Given the description of an element on the screen output the (x, y) to click on. 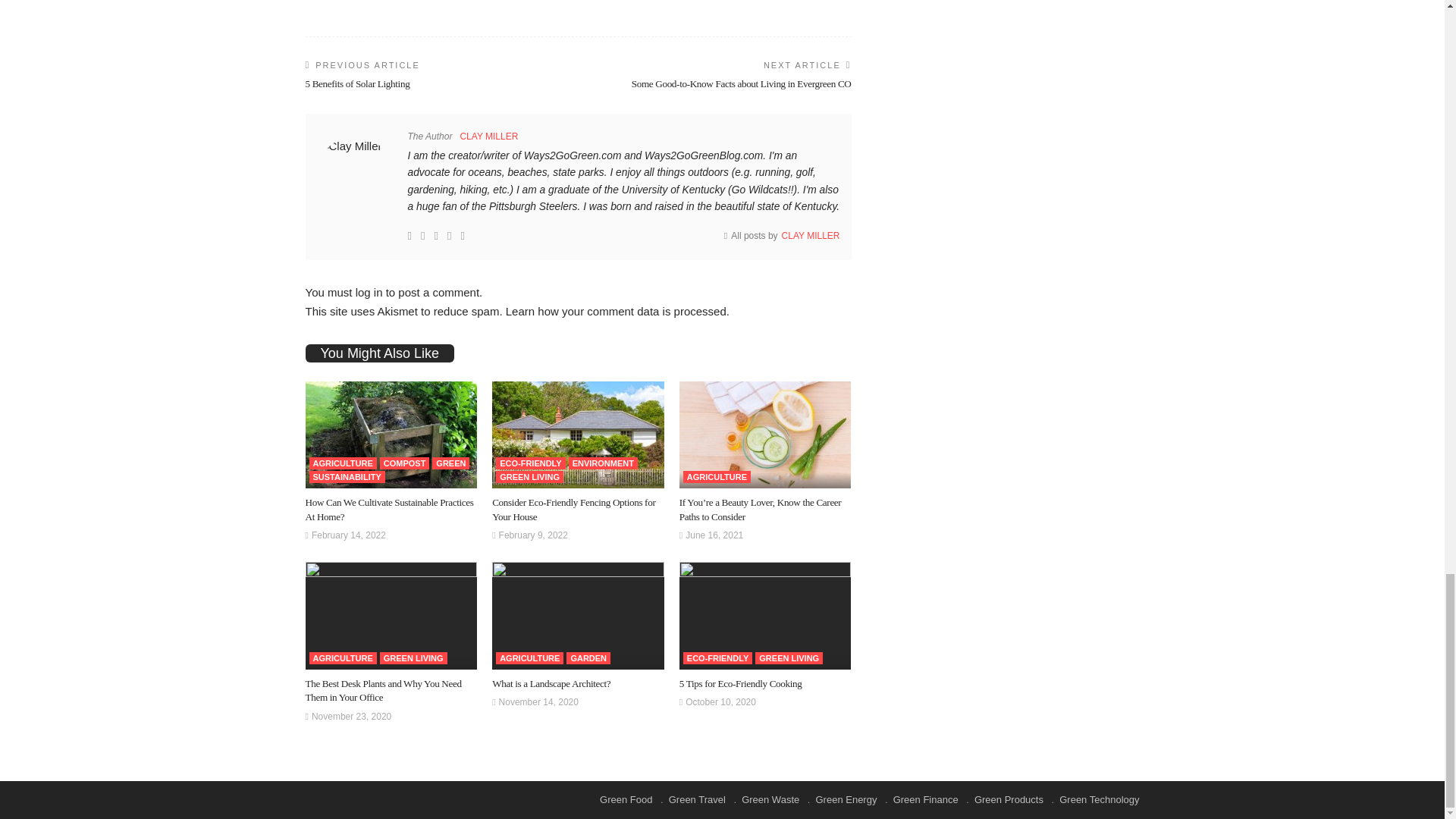
agriculture (342, 463)
How Can We Cultivate Sustainable Practices At Home? (390, 434)
5 Benefits of Solar Lighting (356, 83)
5 Benefits of Solar Lighting (356, 83)
Some Good-to-Know Facts about Living in Evergreen CO (741, 83)
compost (404, 463)
